Given the description of an element on the screen output the (x, y) to click on. 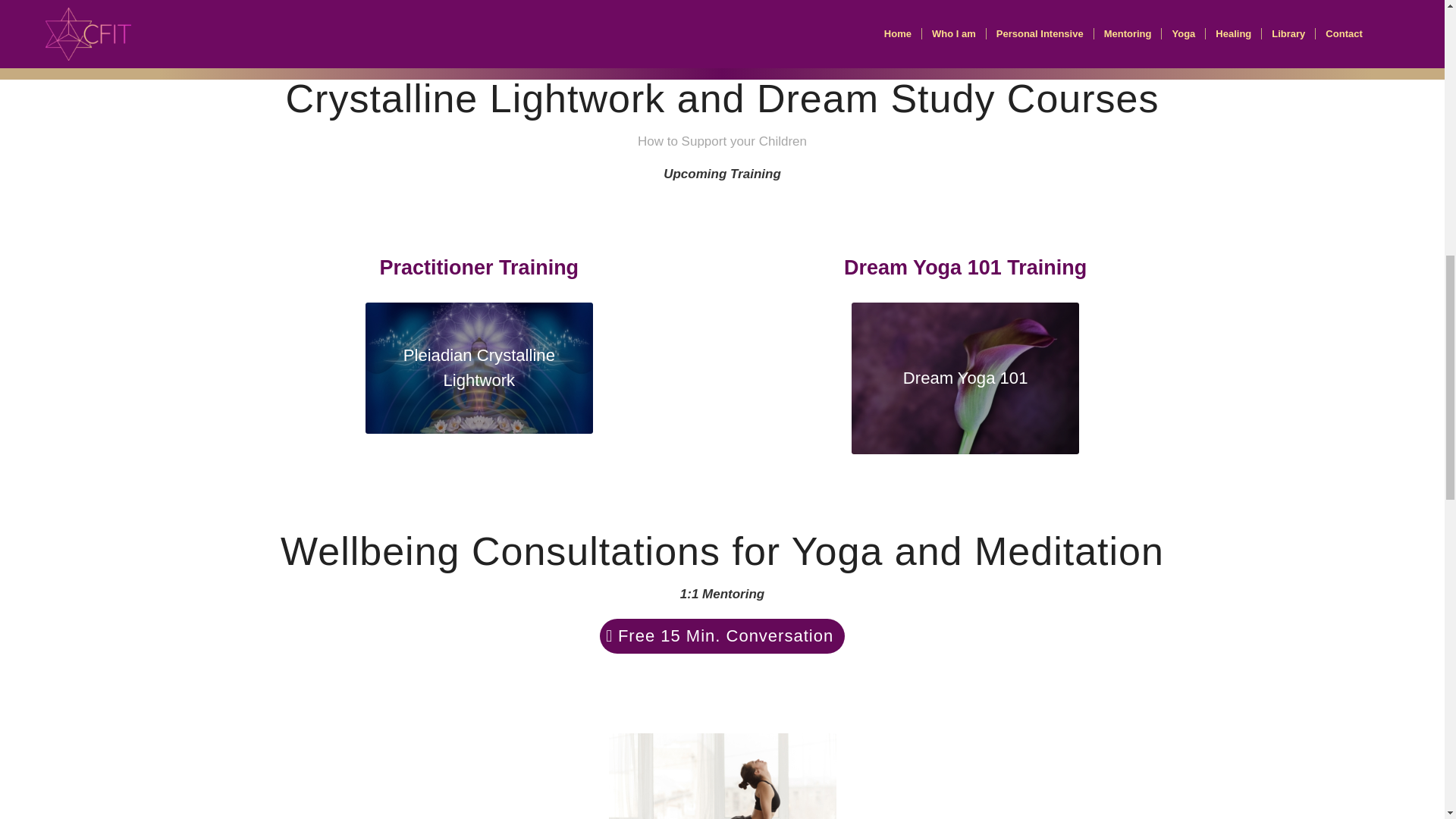
Dream Yoga 101 (964, 378)
Fit,Woman,Making,Cobra,Pose,On,Yoga,Mat,,Exercising,In (721, 776)
Free 15 Min. Conversation (721, 636)
Pleiadian Crystalline Lightwork (478, 368)
